Given the description of an element on the screen output the (x, y) to click on. 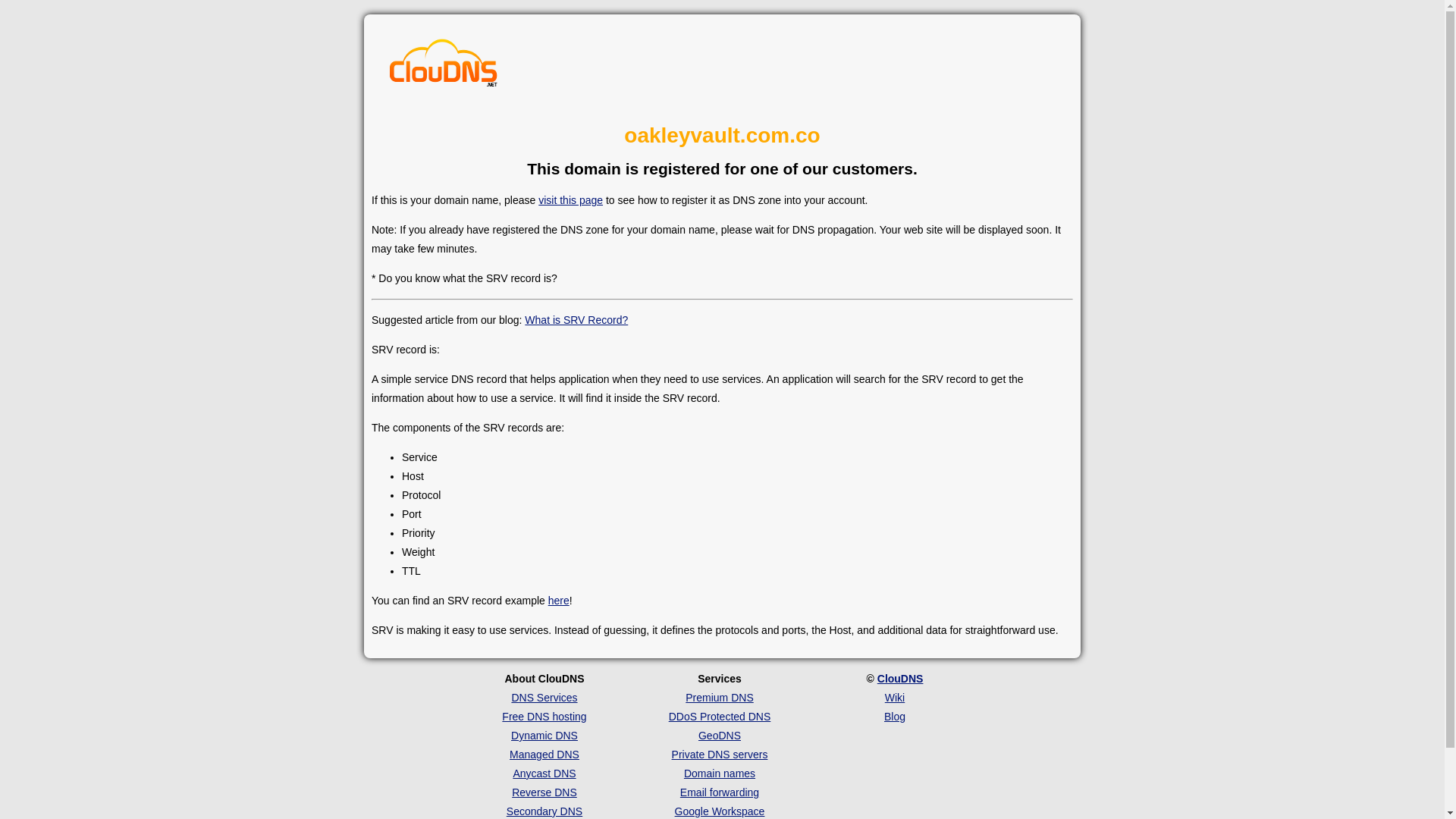
Private DNS servers (719, 754)
Blog (894, 716)
DNS Services (543, 697)
Secondary DNS (544, 811)
Domain names (719, 773)
Google Workspace (720, 811)
Dynamic DNS (544, 735)
What is SRV Record? (575, 319)
Free DNS hosting (544, 716)
Reverse DNS (544, 792)
